Given the description of an element on the screen output the (x, y) to click on. 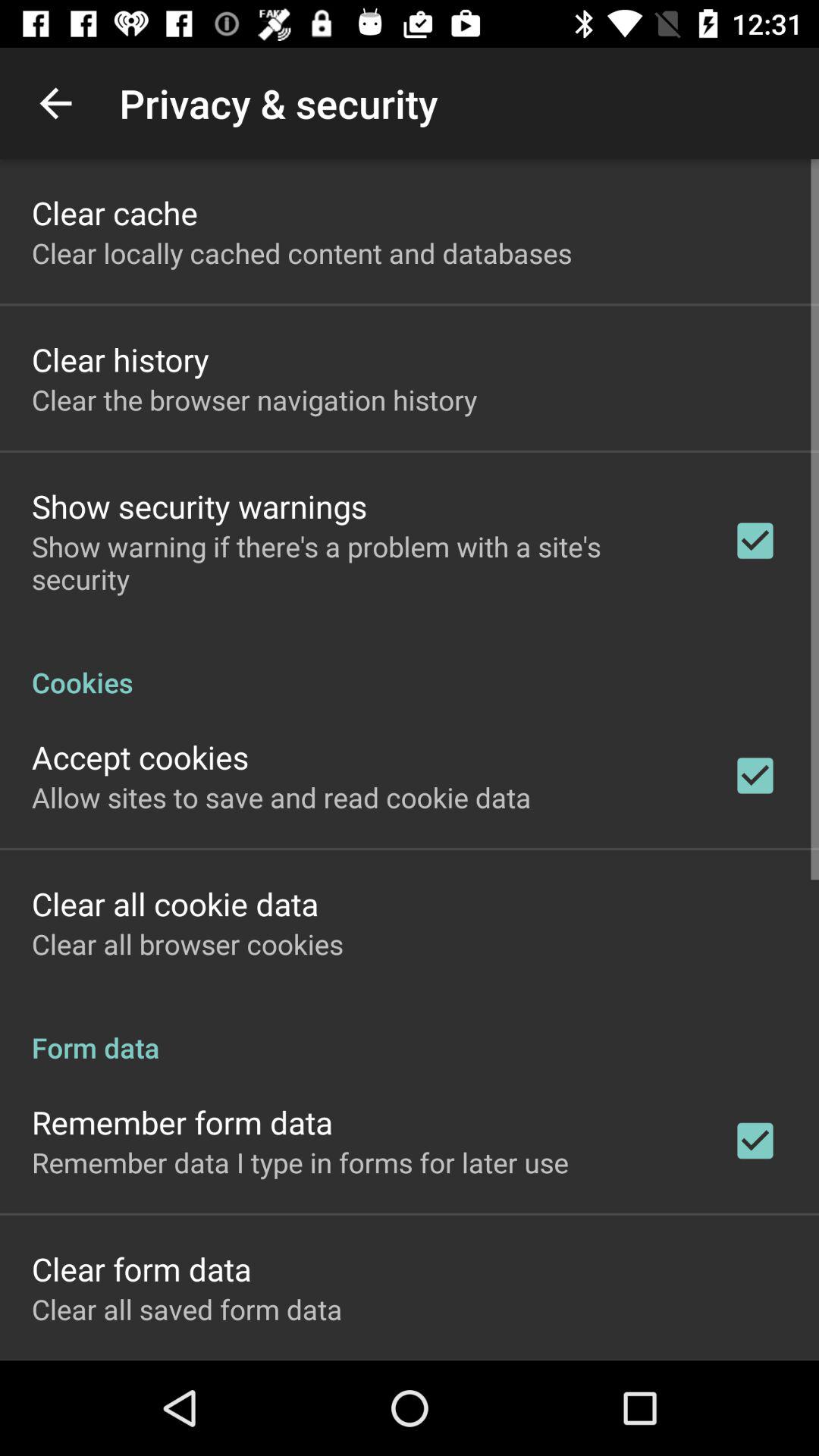
select item above clear cache item (55, 103)
